Given the description of an element on the screen output the (x, y) to click on. 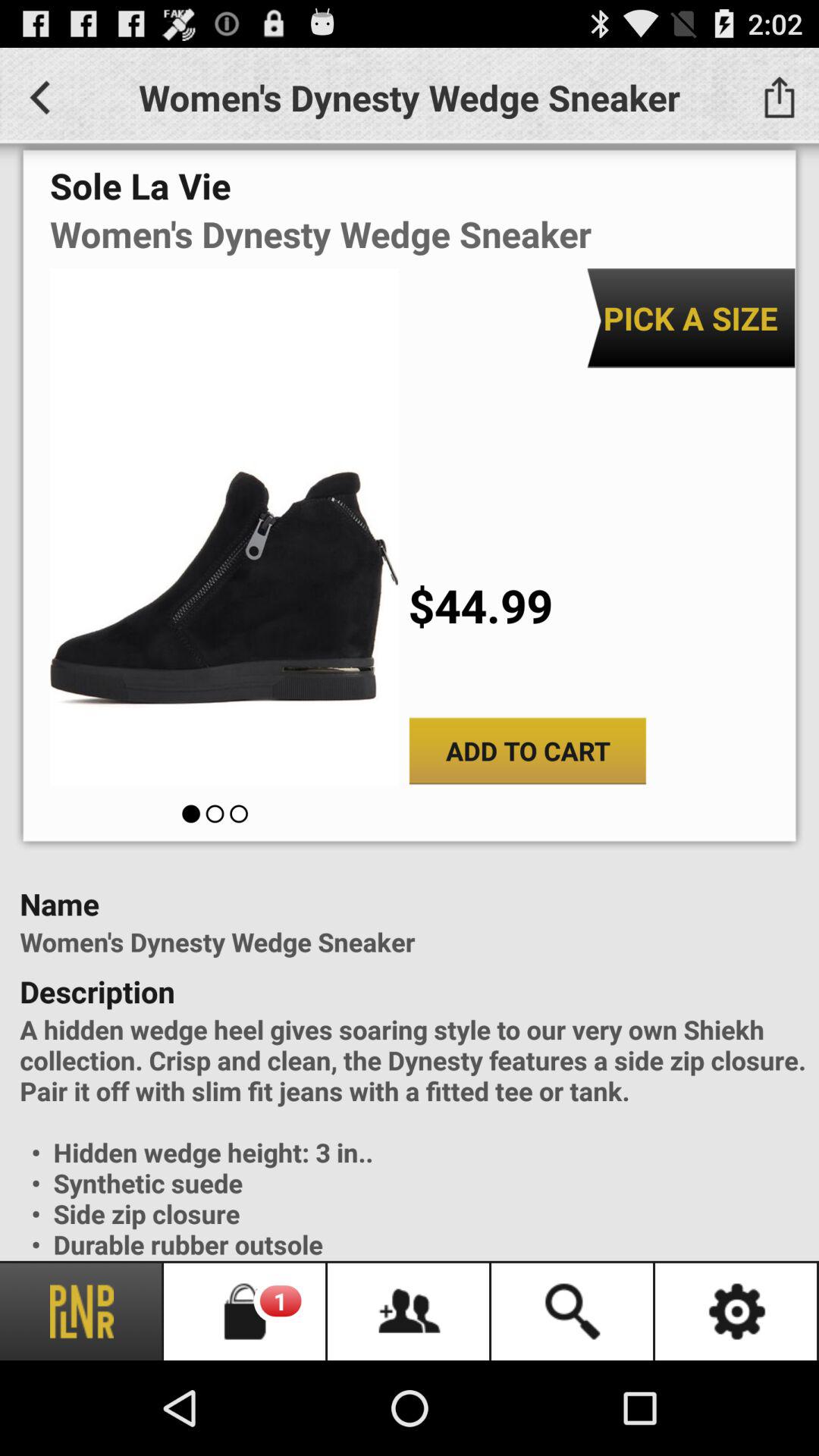
scroll until the add to cart (527, 751)
